Given the description of an element on the screen output the (x, y) to click on. 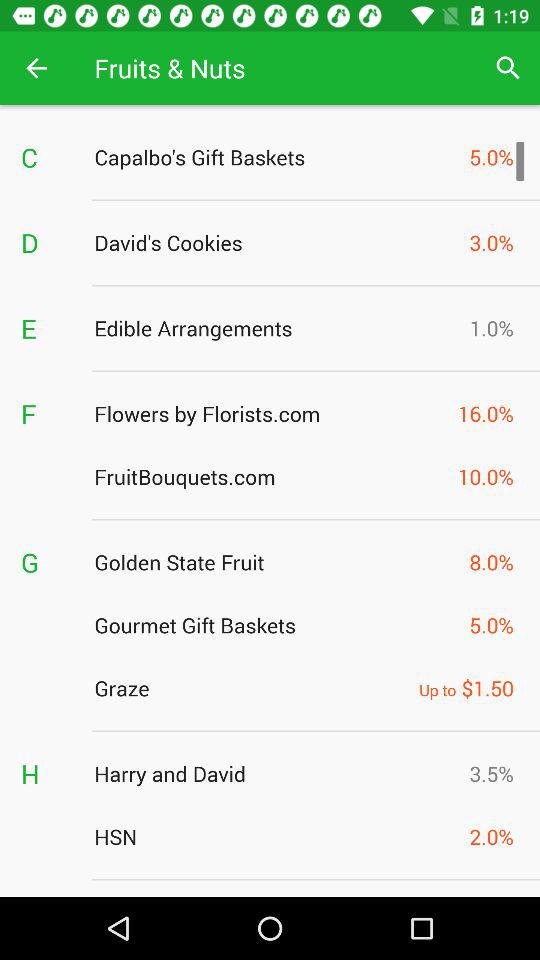
turn on d item (47, 242)
